Given the description of an element on the screen output the (x, y) to click on. 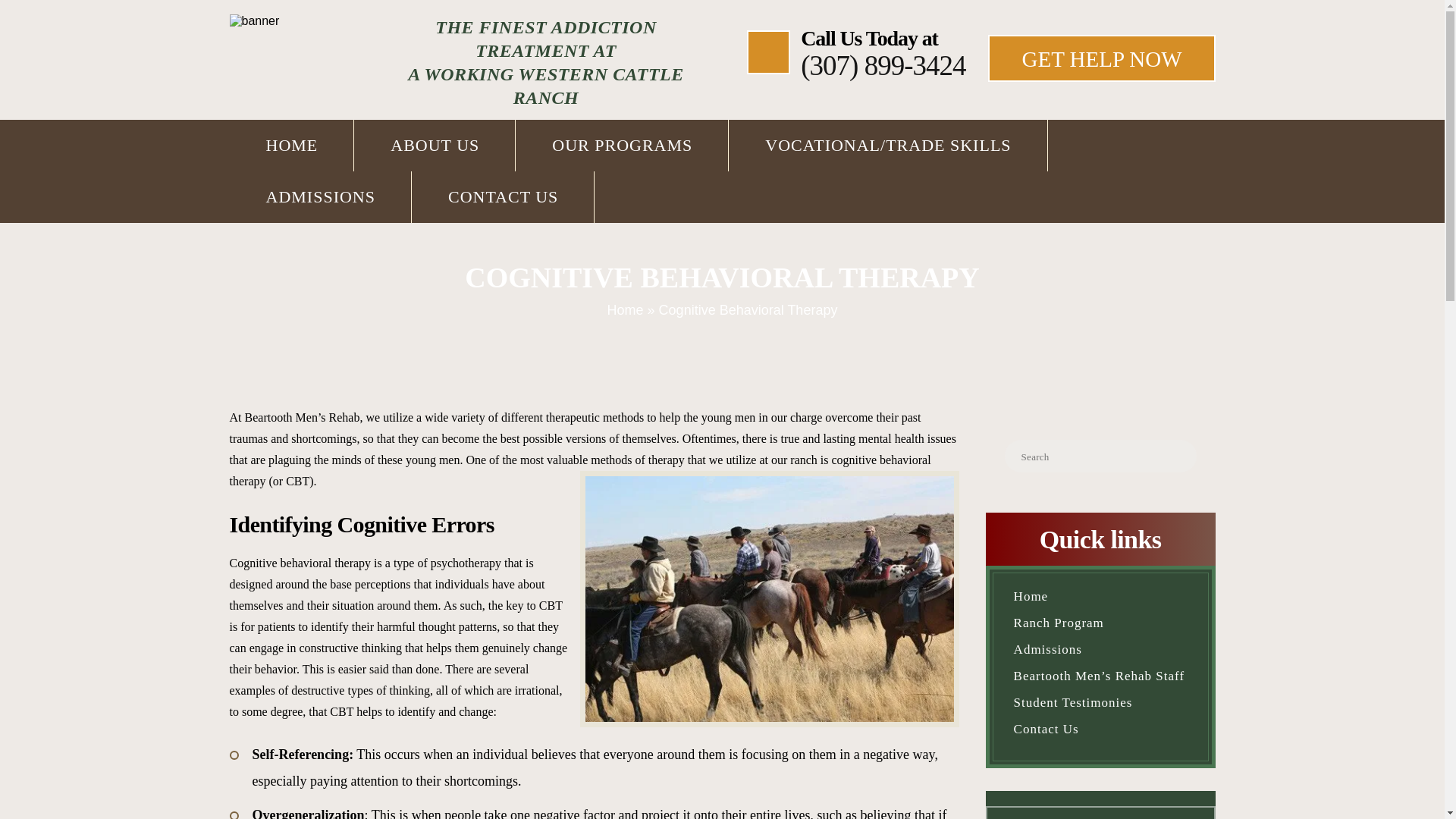
Home (1100, 596)
Rehab (344, 417)
ADMISSIONS (319, 196)
Go (516, 16)
OUR PROGRAMS (622, 145)
Student Testimonies (1100, 702)
GET HELP NOW (1101, 58)
Contact Us (1100, 729)
CONTACT US (503, 196)
Admissions (1100, 649)
Ranch Program (1100, 623)
HOME (290, 145)
ABOUT US (434, 145)
Home (625, 309)
